Given the description of an element on the screen output the (x, y) to click on. 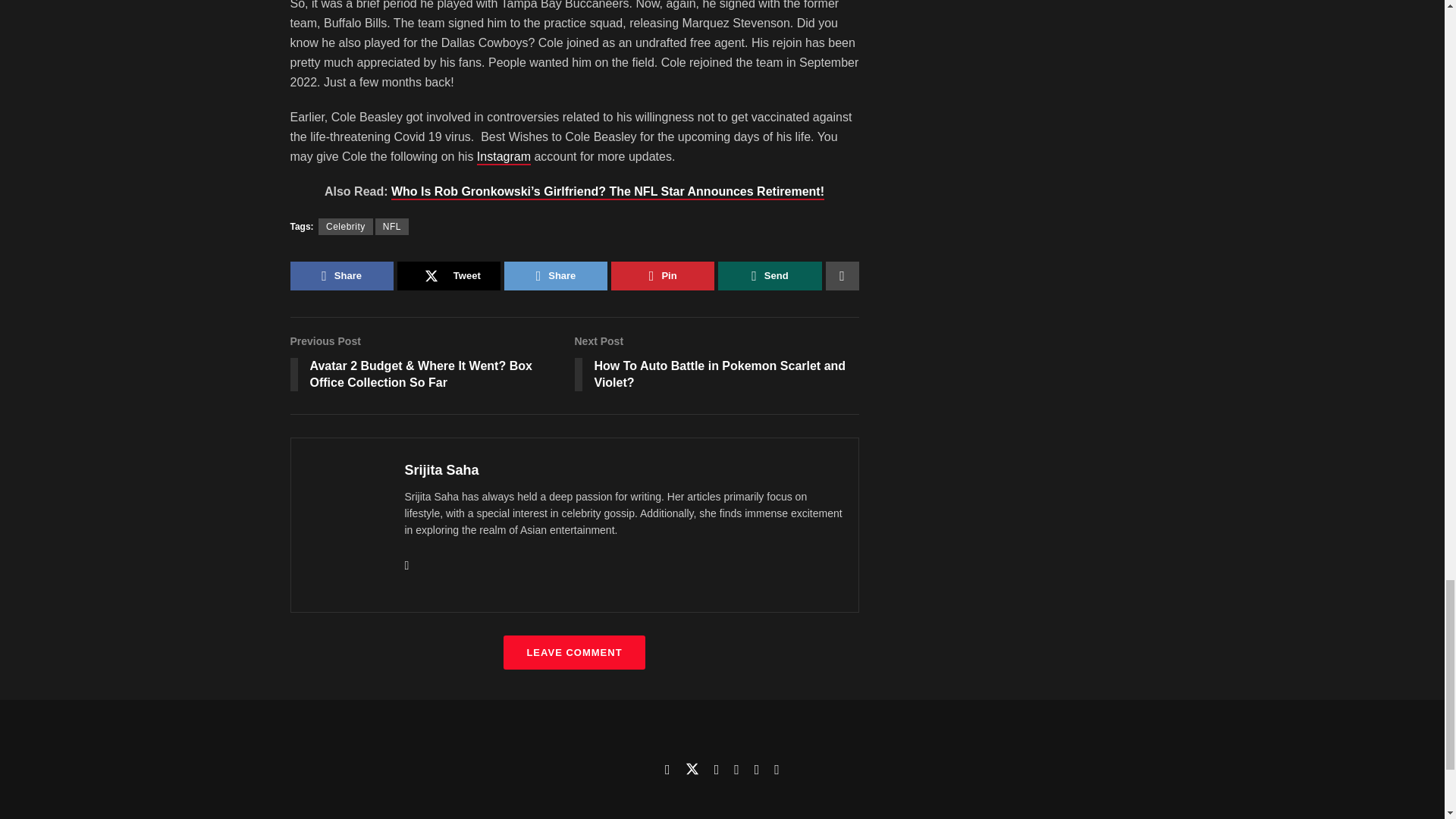
Send (769, 275)
Share (341, 275)
Instagram (717, 365)
Celebrity (504, 157)
Pin (345, 226)
NFL (662, 275)
Share (392, 226)
Tweet (555, 275)
Srijita Saha (448, 275)
